Given the description of an element on the screen output the (x, y) to click on. 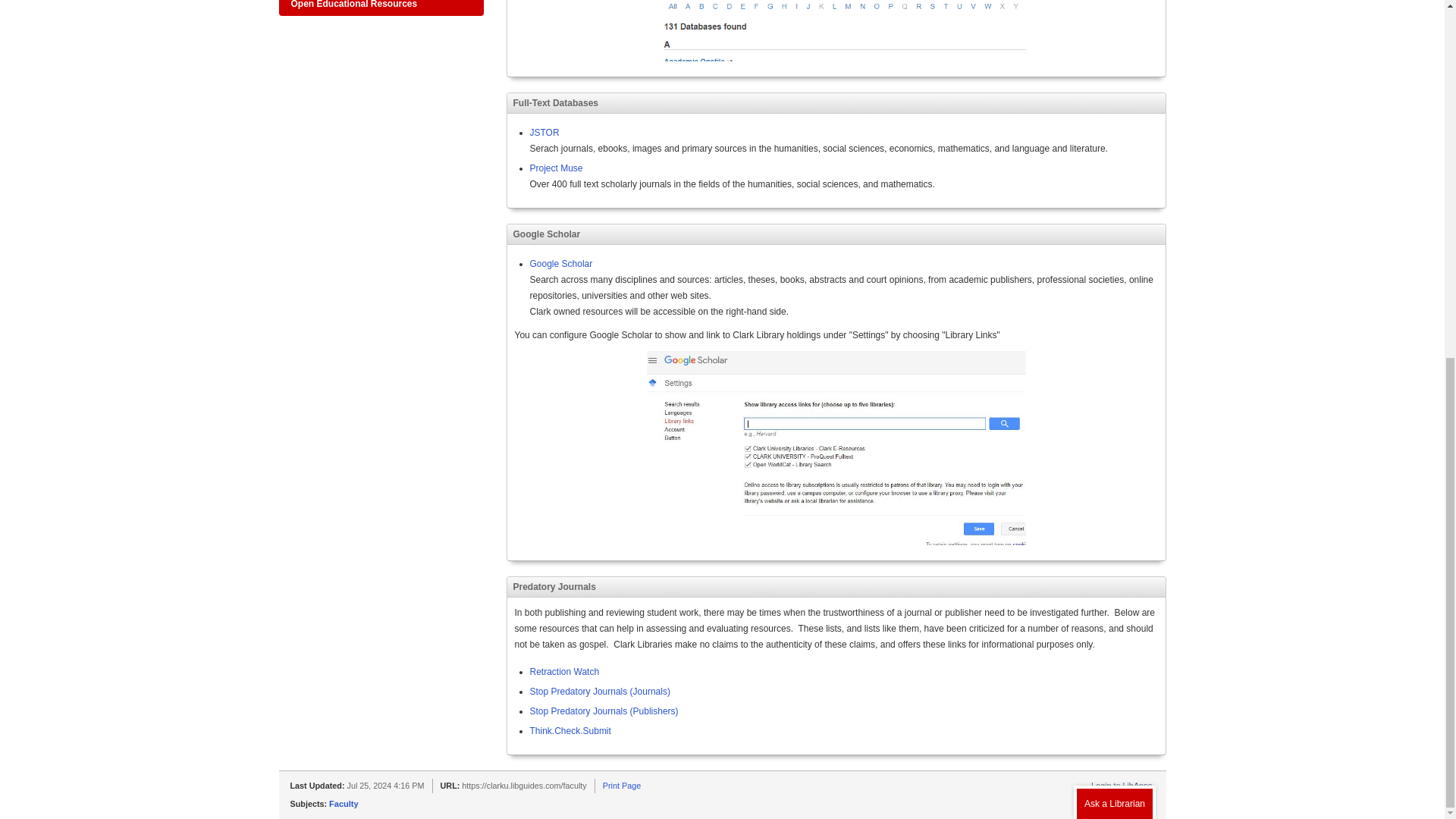
Google Scholar (560, 263)
JSTOR (544, 132)
Print Page (621, 785)
Project Muse (555, 167)
Open Educational Resources (381, 7)
Retraction Watch (563, 671)
Think.Check.Submit (569, 730)
Login to LibApps (1120, 785)
